Given the description of an element on the screen output the (x, y) to click on. 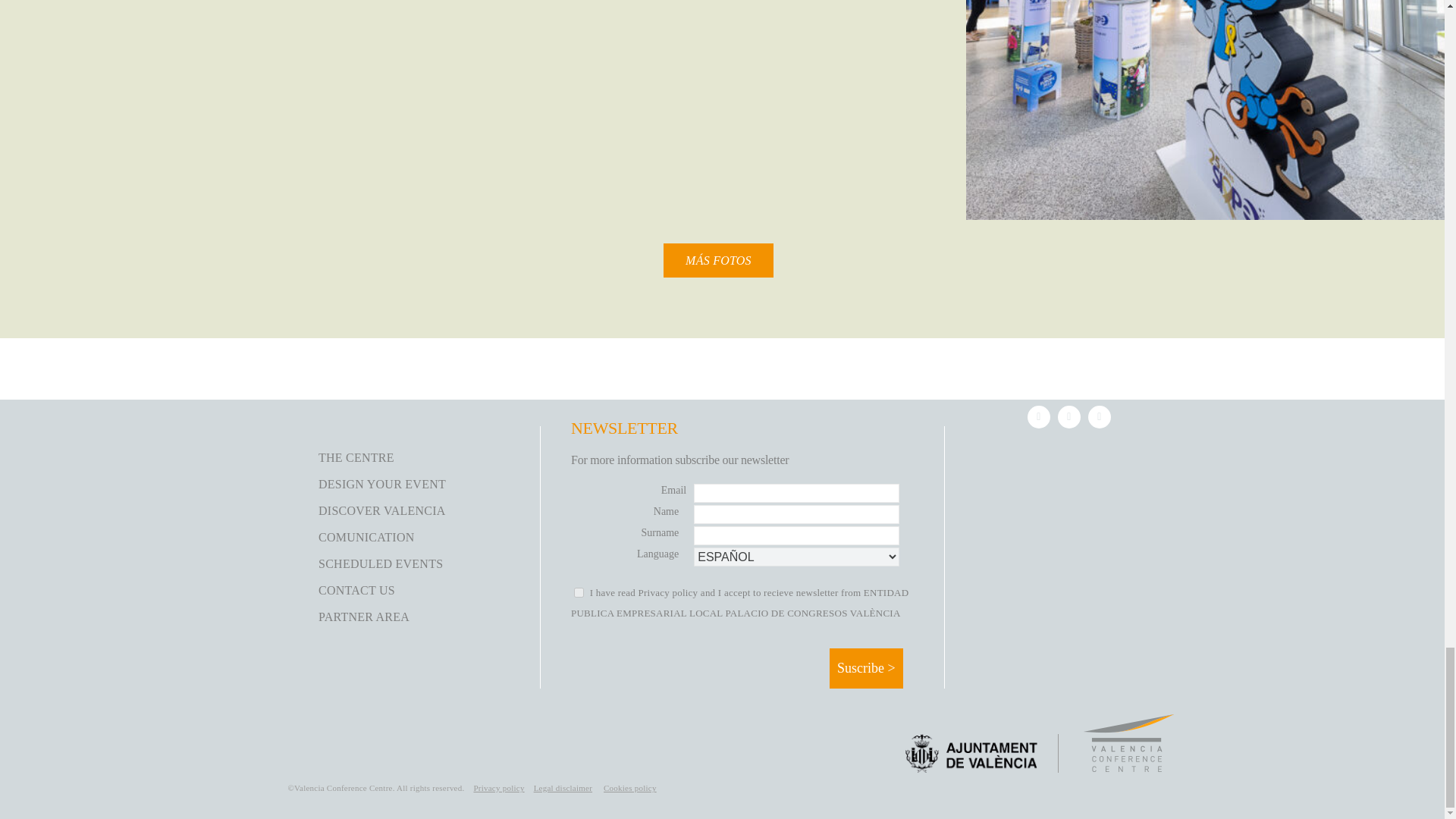
on (578, 592)
